Given the description of an element on the screen output the (x, y) to click on. 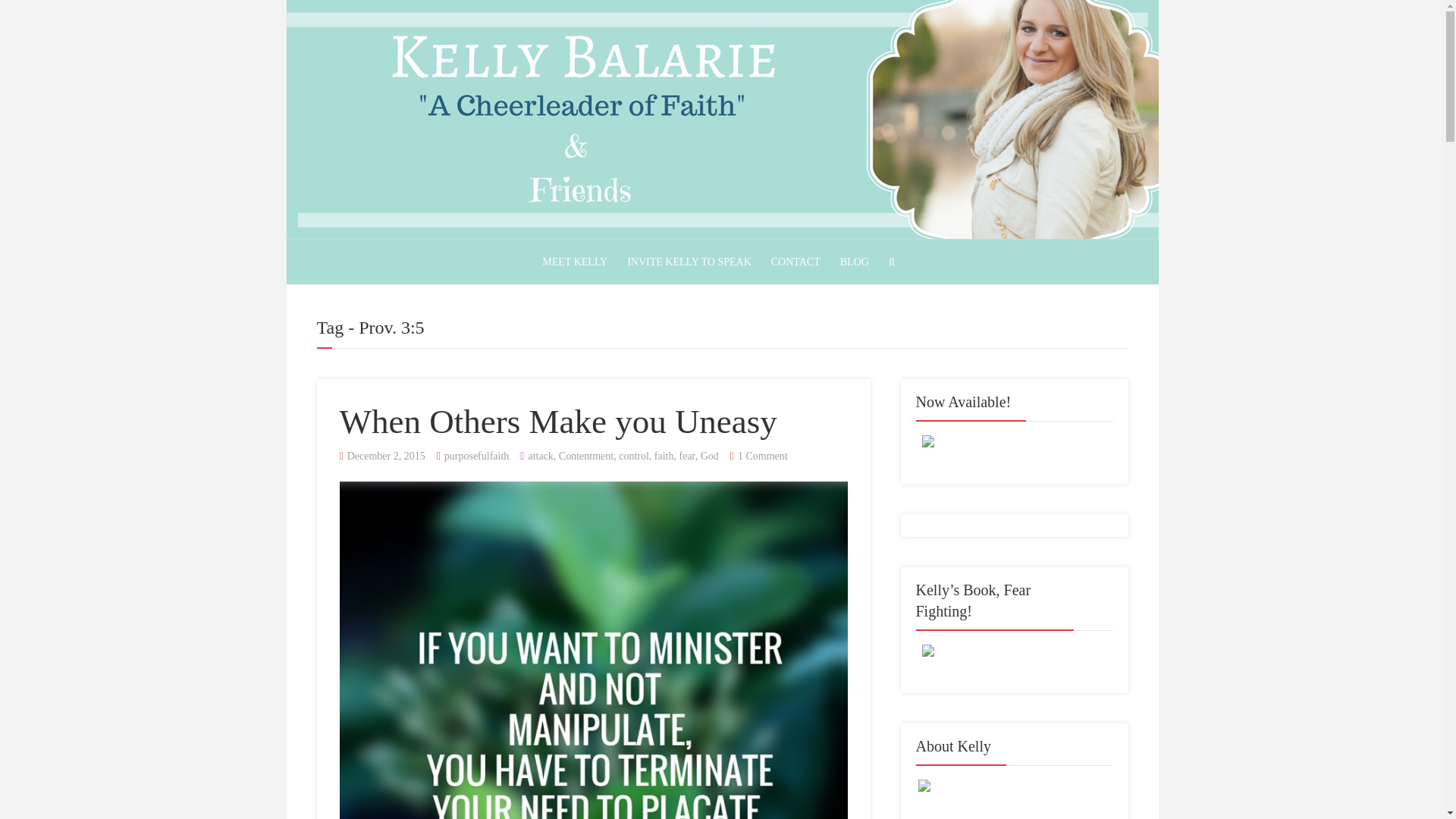
fear (687, 455)
MEET KELLY (575, 262)
CONTACT (795, 262)
God (709, 455)
INVITE KELLY TO SPEAK (689, 262)
When Others Make you Uneasy (558, 421)
When Others Make you Uneasy (558, 421)
1 Comment (762, 455)
faith (663, 455)
